Given the description of an element on the screen output the (x, y) to click on. 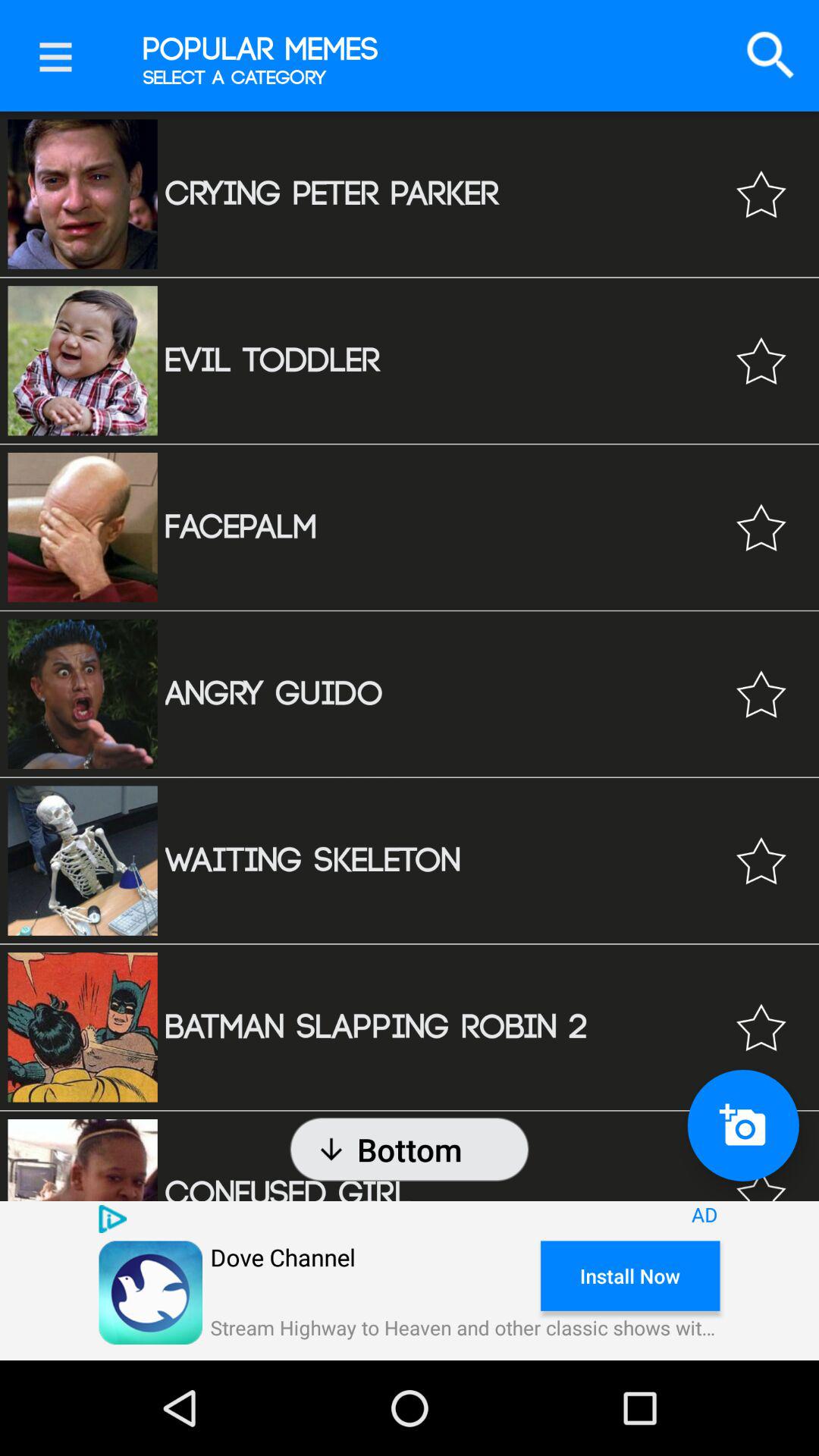
tap as favorite (761, 527)
